Given the description of an element on the screen output the (x, y) to click on. 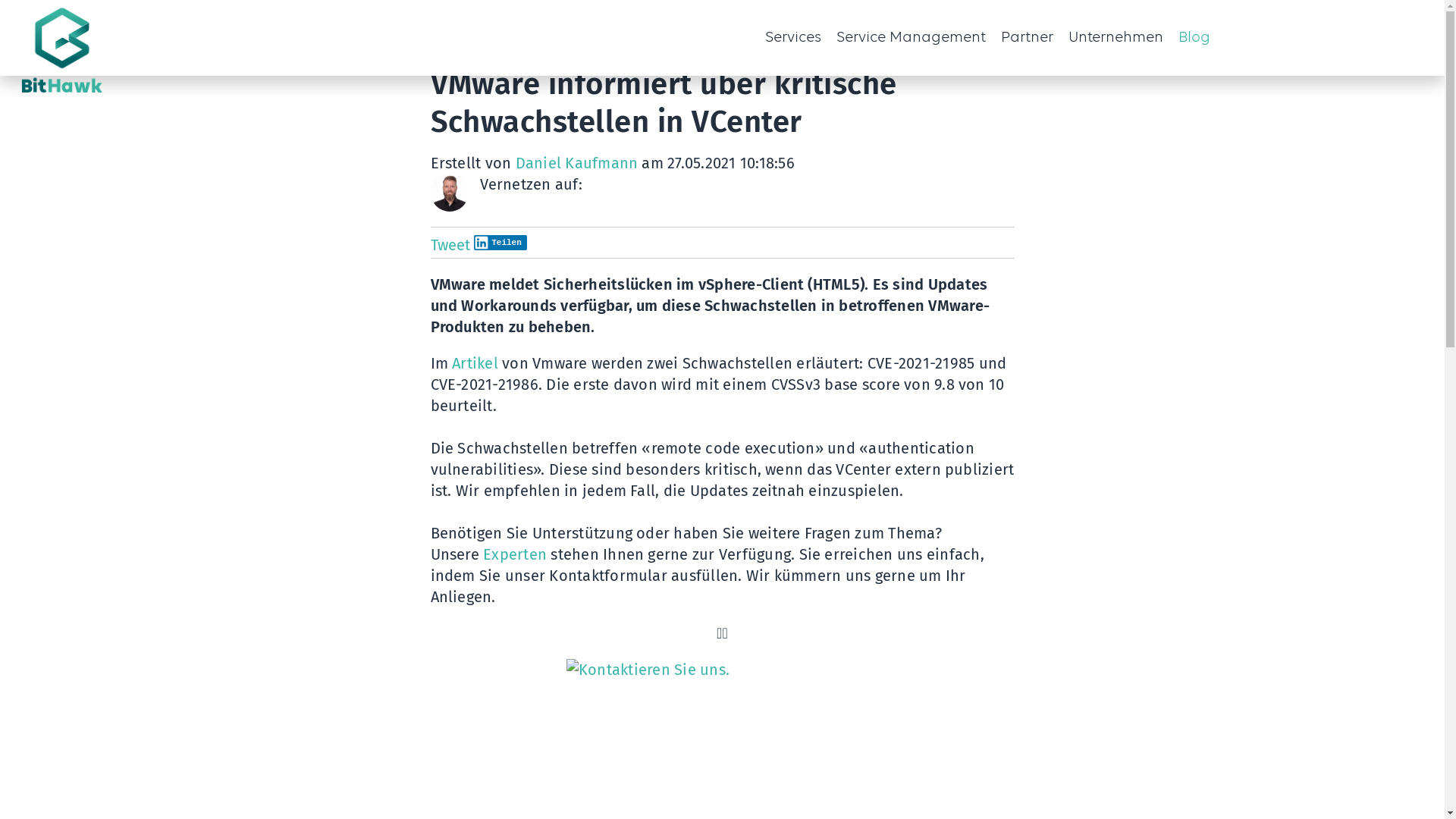
Blog Element type: text (1193, 37)
Services Element type: text (774, 37)
Service Management Element type: text (910, 37)
Experten Element type: text (514, 554)
Unternehmen Element type: text (1115, 37)
Partner Element type: text (1026, 37)
LinkedIn Element type: text (595, 184)
Tweet Element type: text (450, 244)
Artikel Element type: text (476, 363)
Daniel Kaufmann Element type: text (576, 162)
Teilen Element type: text (500, 242)
BitHawk AG (home) Element type: hover (116, 52)
